Given the description of an element on the screen output the (x, y) to click on. 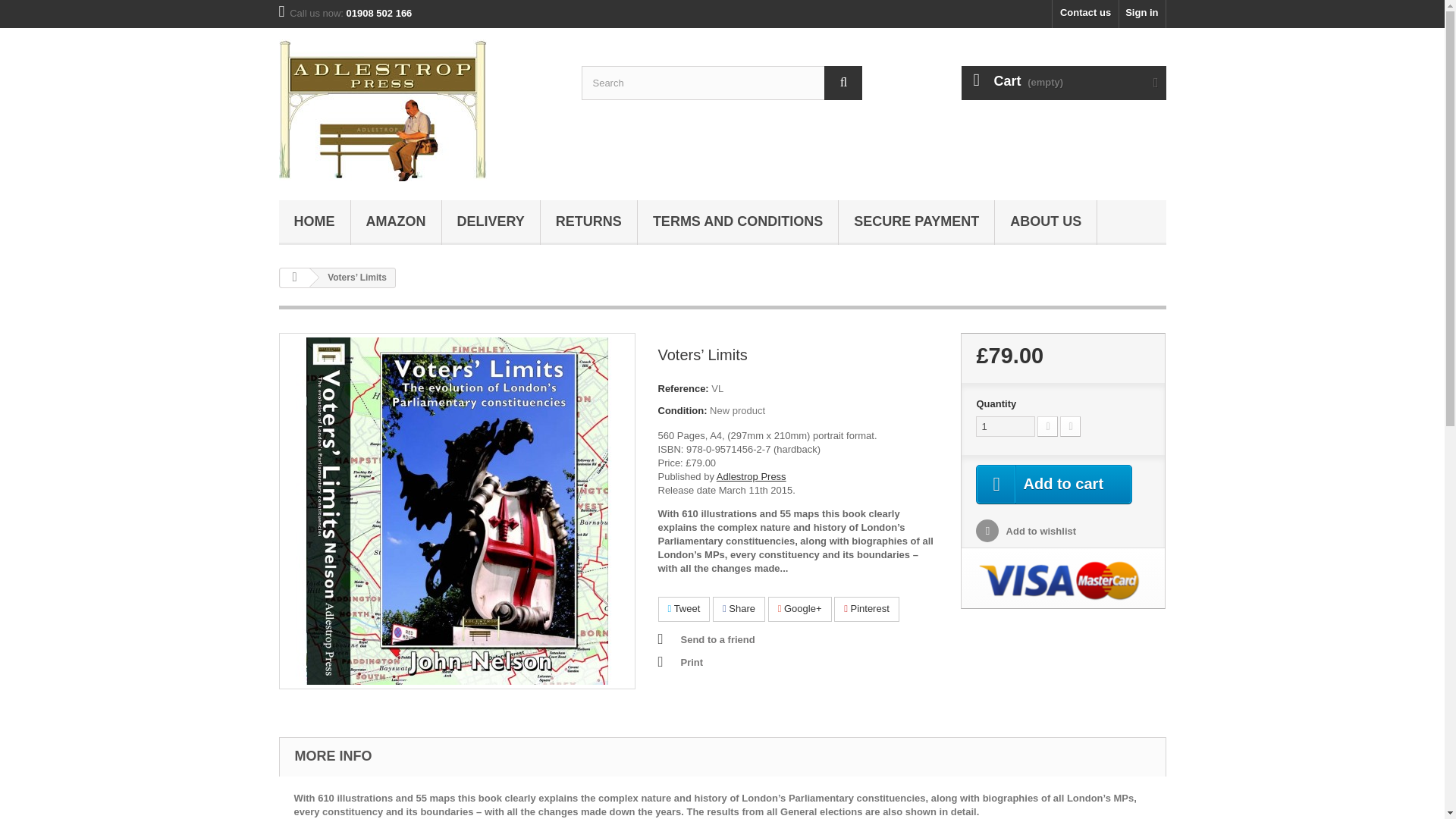
Log in to your customer account (1141, 13)
ABOUT US (1045, 221)
Add to cart (1053, 484)
HOME (314, 221)
Add to wishlist (1025, 531)
Print (680, 662)
1 (1005, 426)
Terms and conditions (737, 221)
Share (739, 609)
Delivery (489, 221)
